Given the description of an element on the screen output the (x, y) to click on. 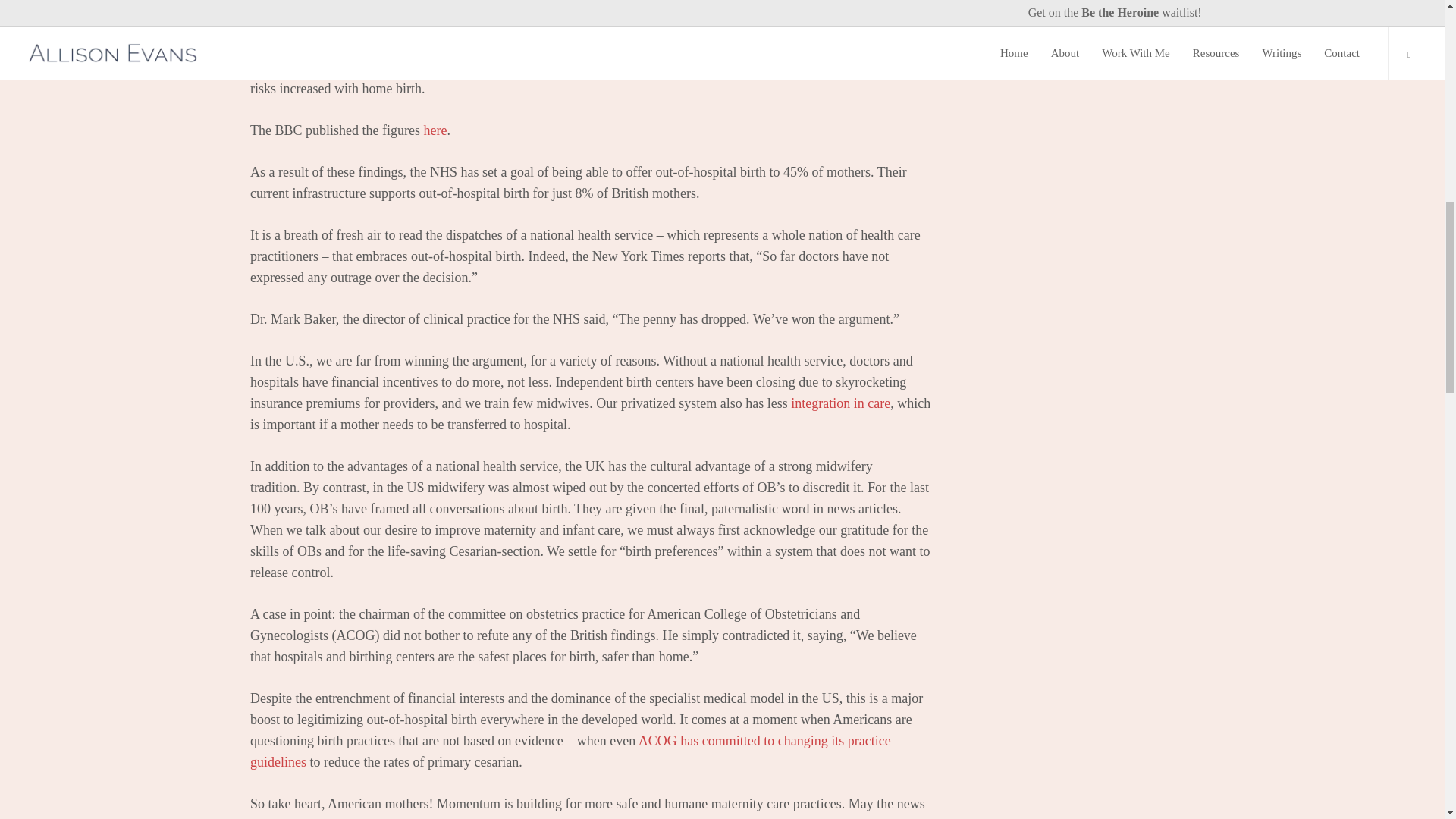
here (434, 130)
ACOG has committed to changing its practice guidelines (570, 751)
integration in care (839, 403)
